Given the description of an element on the screen output the (x, y) to click on. 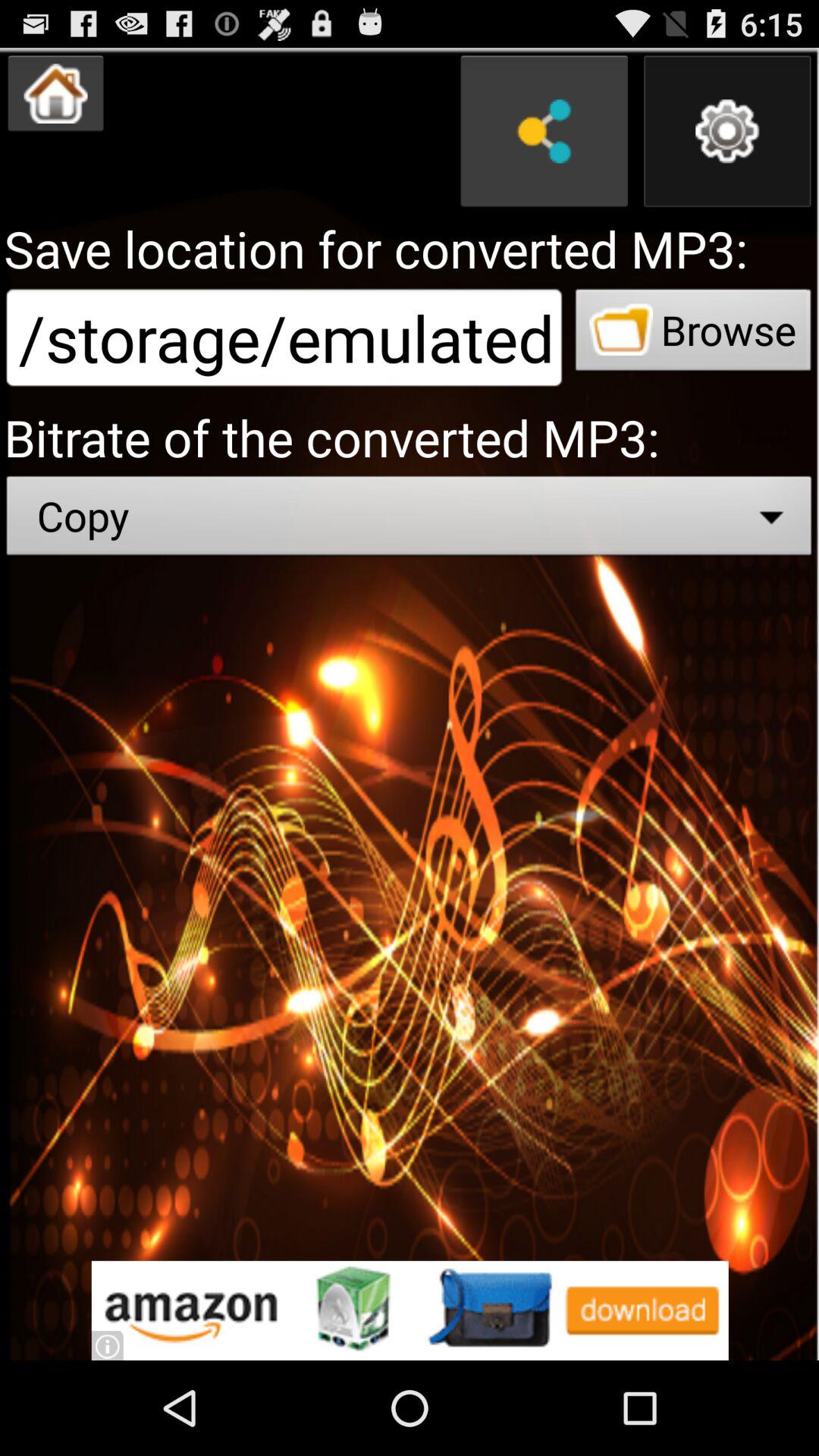
open app settings (727, 130)
